Given the description of an element on the screen output the (x, y) to click on. 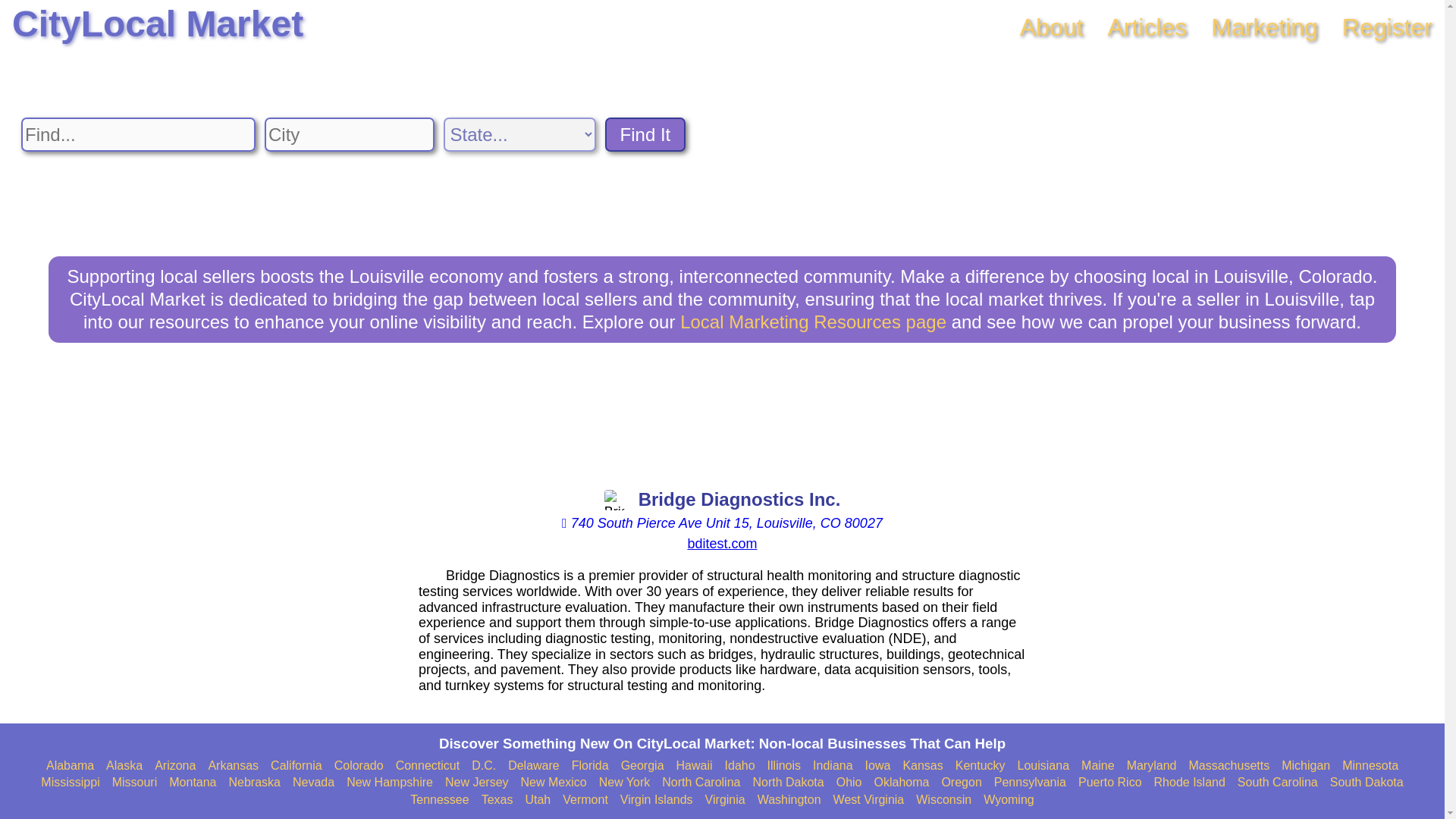
Kansas (922, 766)
Register My Business (1387, 27)
Find Businesses in Connecticut (428, 766)
Maine (1098, 766)
Articles (1146, 27)
Louisiana (1043, 766)
Local Marketing Resources (812, 322)
Iowa (877, 766)
Articles (1146, 27)
Minnesota (1369, 766)
New Jersey (476, 782)
Missouri (134, 782)
Nevada (313, 782)
Find It (645, 134)
View on Google Maps (721, 523)
